Given the description of an element on the screen output the (x, y) to click on. 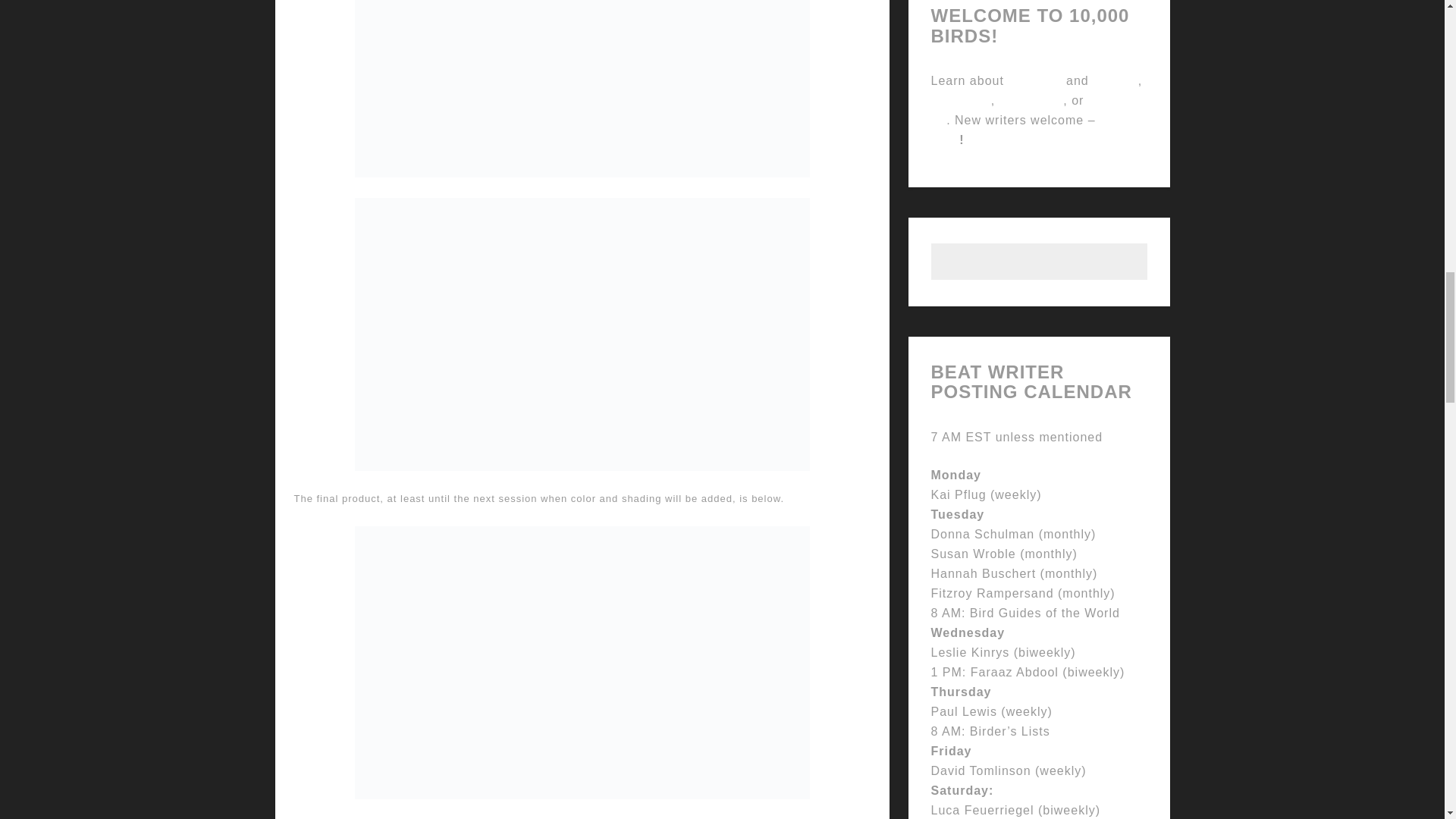
working on the pine branch (582, 334)
Magpie Tattoo outline complete (582, 662)
Getting a bird tattoo (582, 90)
